Given the description of an element on the screen output the (x, y) to click on. 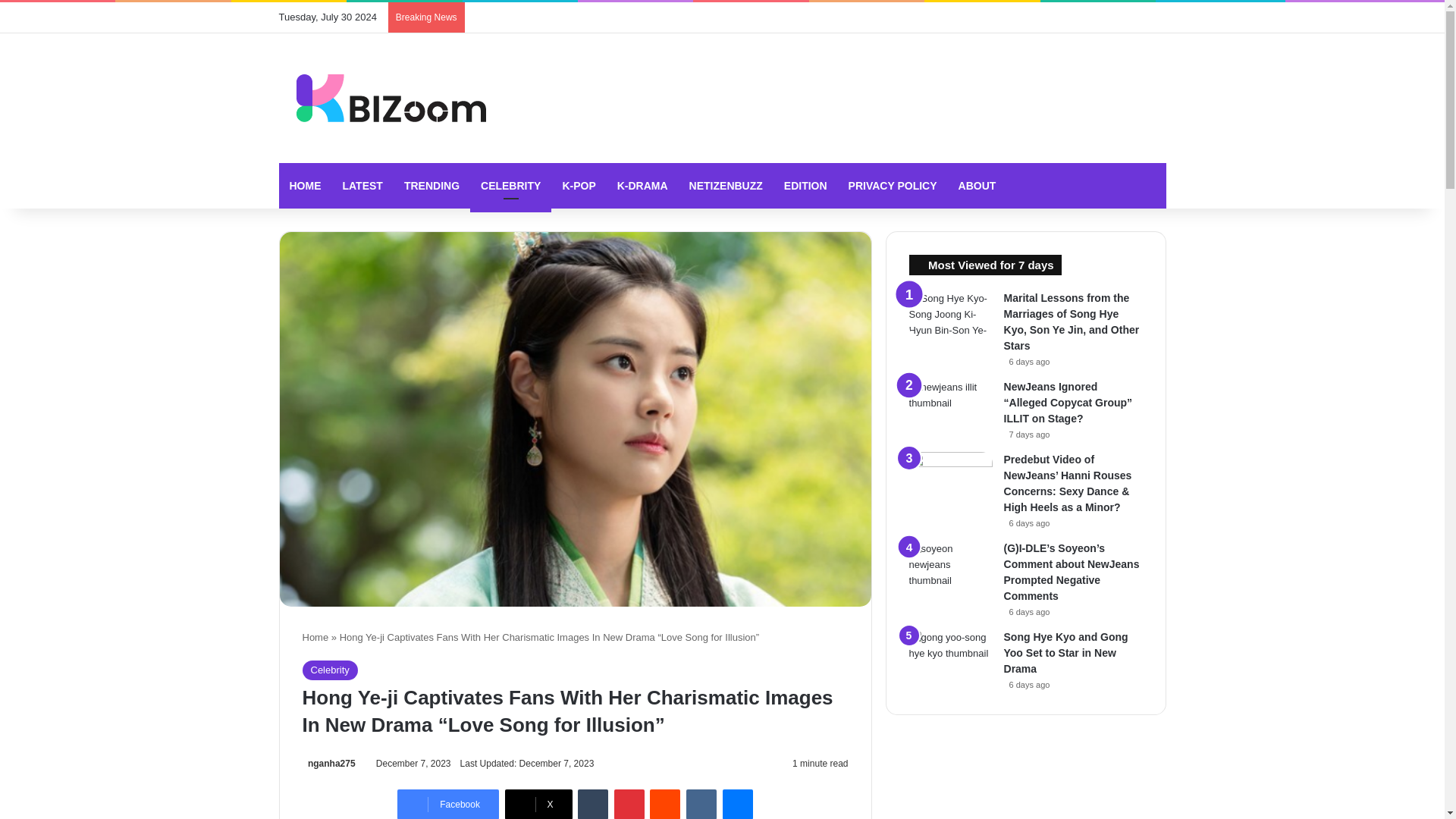
Facebook (448, 804)
PRIVACY POLICY (892, 185)
VKontakte (700, 804)
KBIZoom (382, 97)
Pinterest (629, 804)
nganha275 (328, 763)
NETIZENBUZZ (725, 185)
Reddit (664, 804)
CELEBRITY (510, 185)
Home (315, 636)
ABOUT (977, 185)
X (538, 804)
Messenger (737, 804)
Reddit (664, 804)
Pinterest (629, 804)
